Given the description of an element on the screen output the (x, y) to click on. 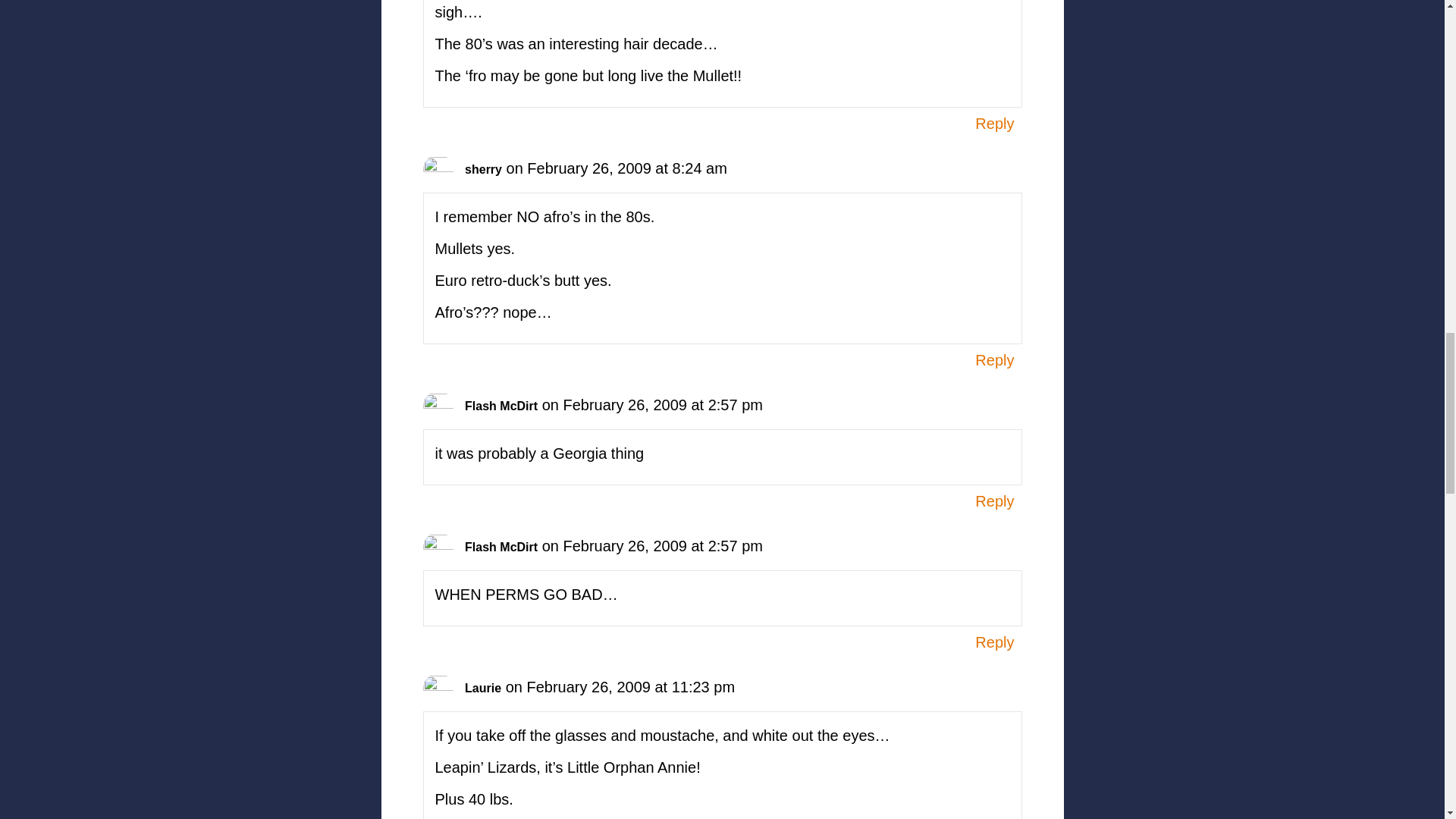
Reply (994, 500)
Reply (994, 123)
Reply (994, 641)
Reply (994, 360)
